Given the description of an element on the screen output the (x, y) to click on. 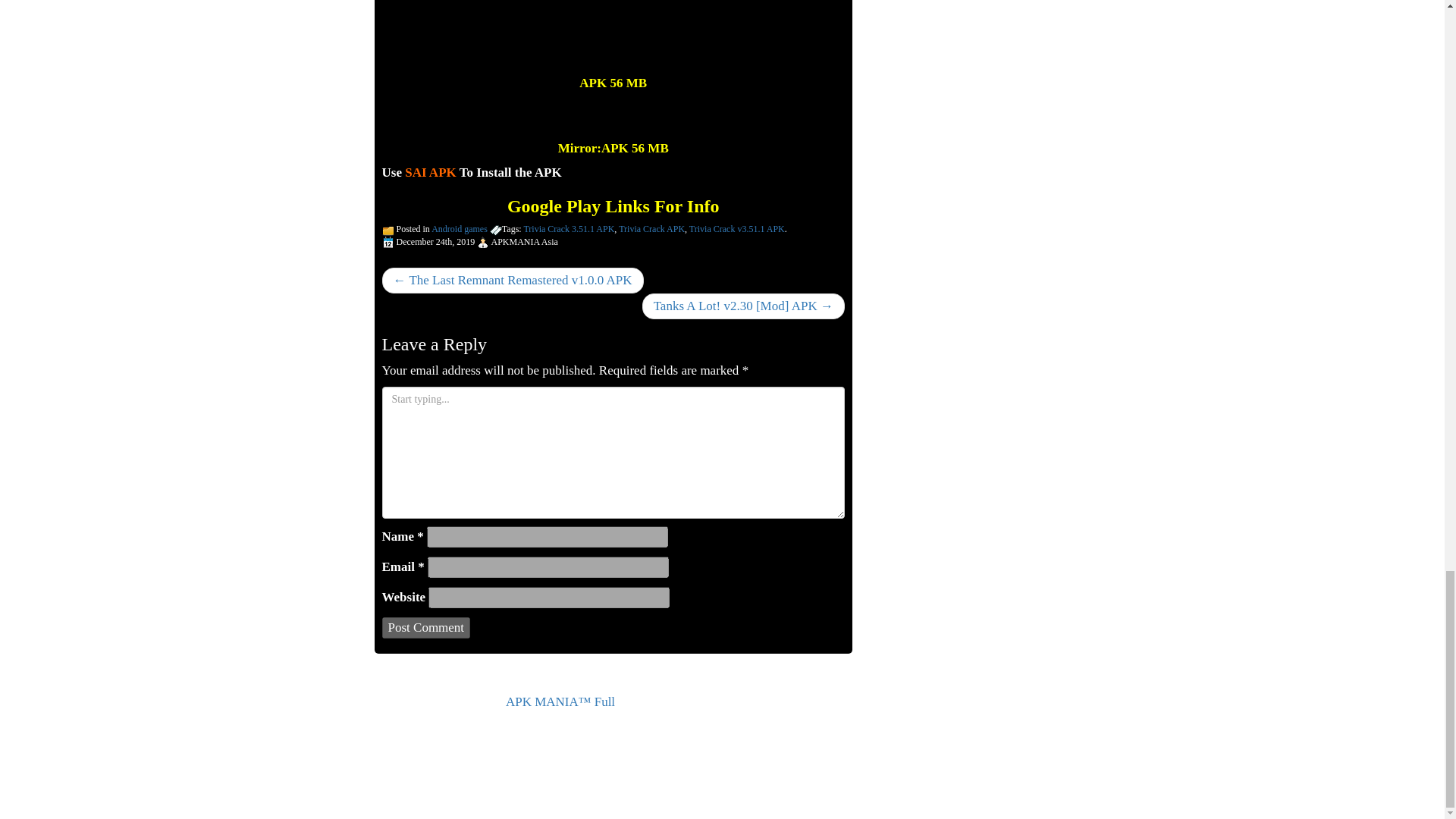
SAI APK (429, 172)
Google Play Links For Info (612, 206)
Post Comment (425, 627)
Trivia Crack 3.51.1 APK (568, 228)
Trivia Crack v3.51.1 APK (736, 228)
Post Comment (425, 627)
Android games (458, 228)
Trivia Crack APK (651, 228)
